Given the description of an element on the screen output the (x, y) to click on. 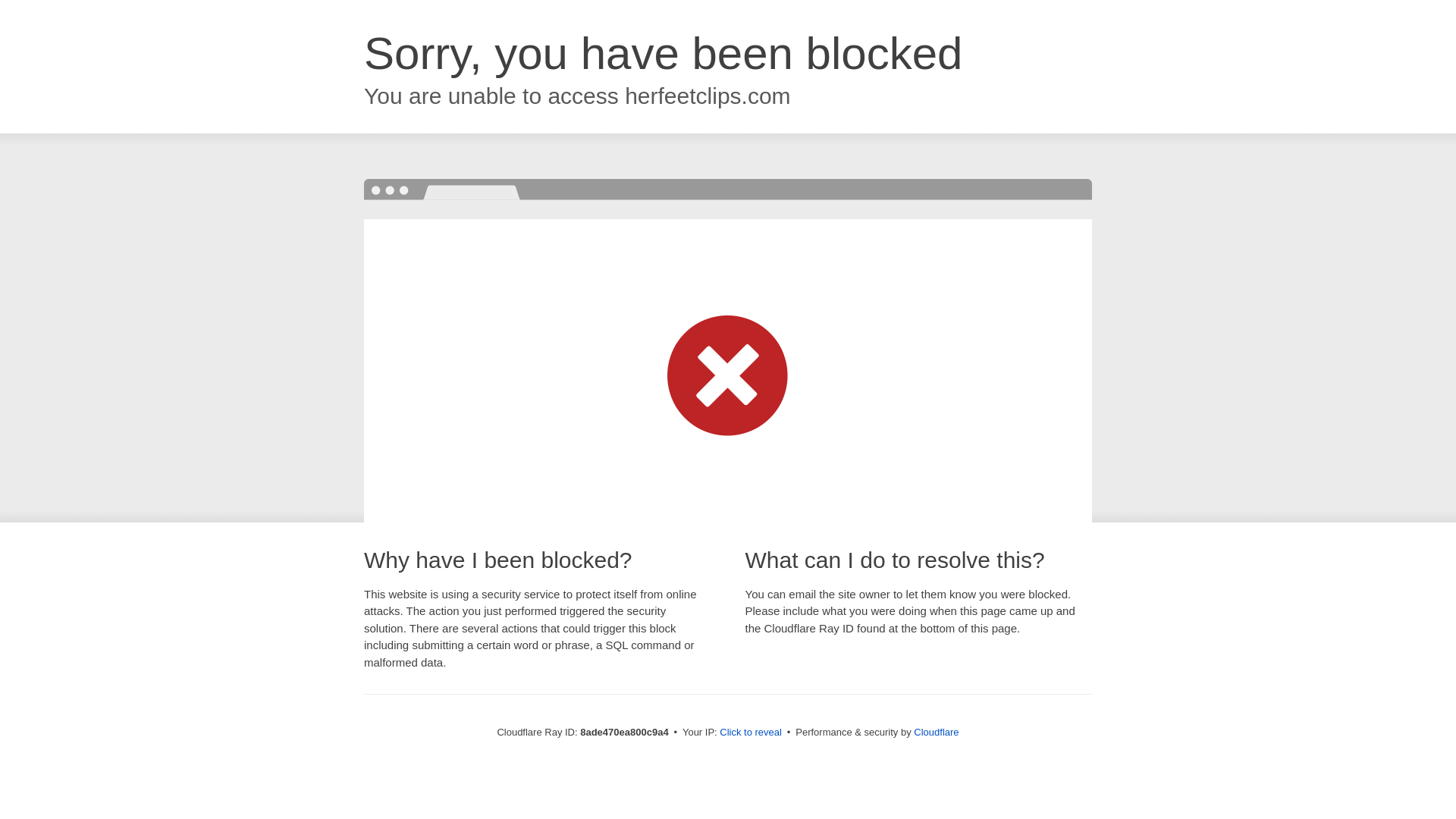
Click to reveal (750, 732)
Cloudflare (936, 731)
